Given the description of an element on the screen output the (x, y) to click on. 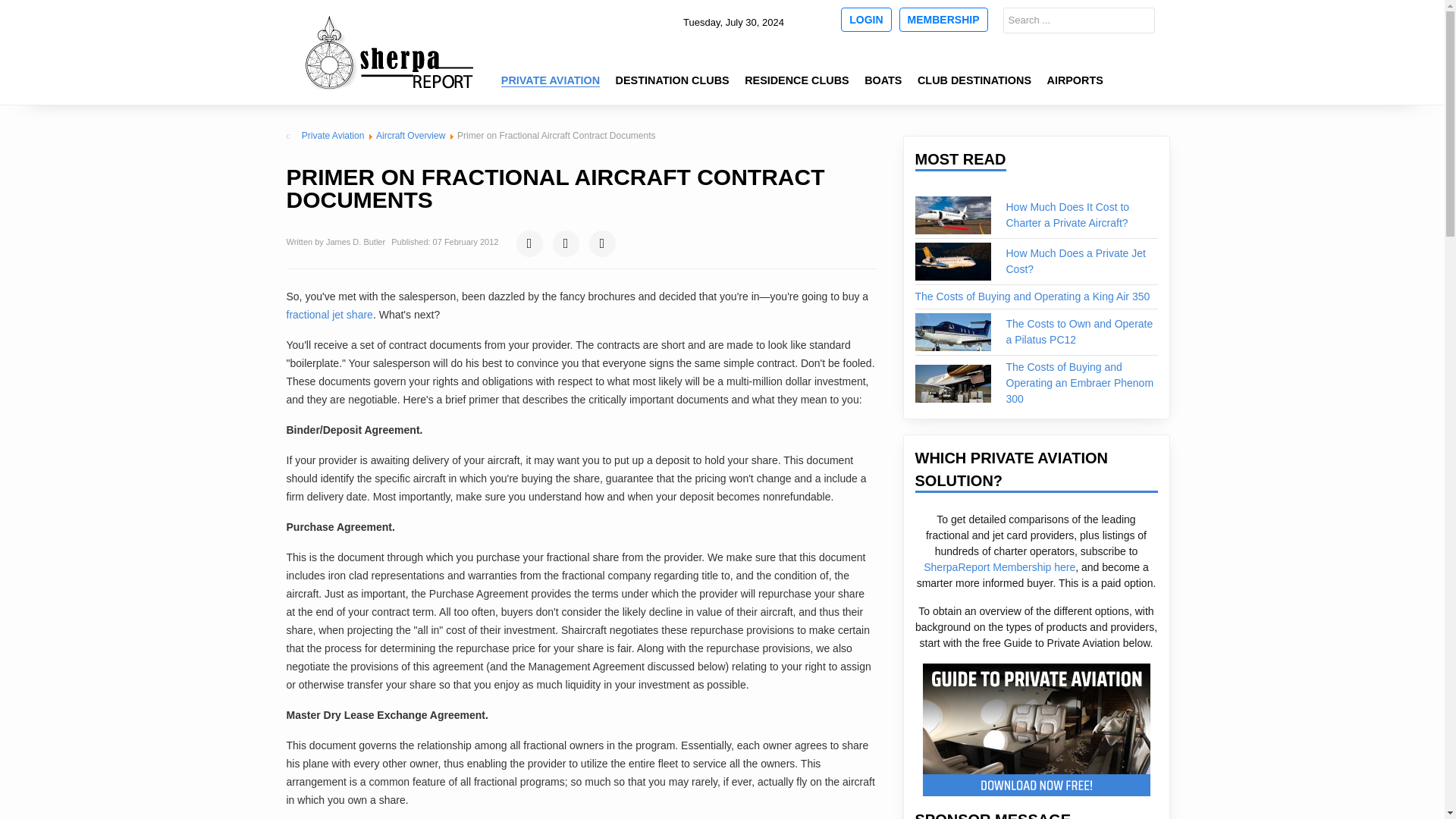
CLUB DESTINATIONS (973, 80)
AIRPORTS (1074, 80)
PRIVATE AVIATION (550, 80)
RESIDENCE CLUBS (797, 80)
DESTINATION CLUBS (672, 80)
Get The SherpaReport Guide to Private Aviation (1035, 729)
Private Aviation (333, 135)
BOATS (883, 80)
LOGIN (866, 19)
Aircraft Overview (410, 135)
MEMBERSHIP (943, 19)
fractional jet share (329, 314)
